Given the description of an element on the screen output the (x, y) to click on. 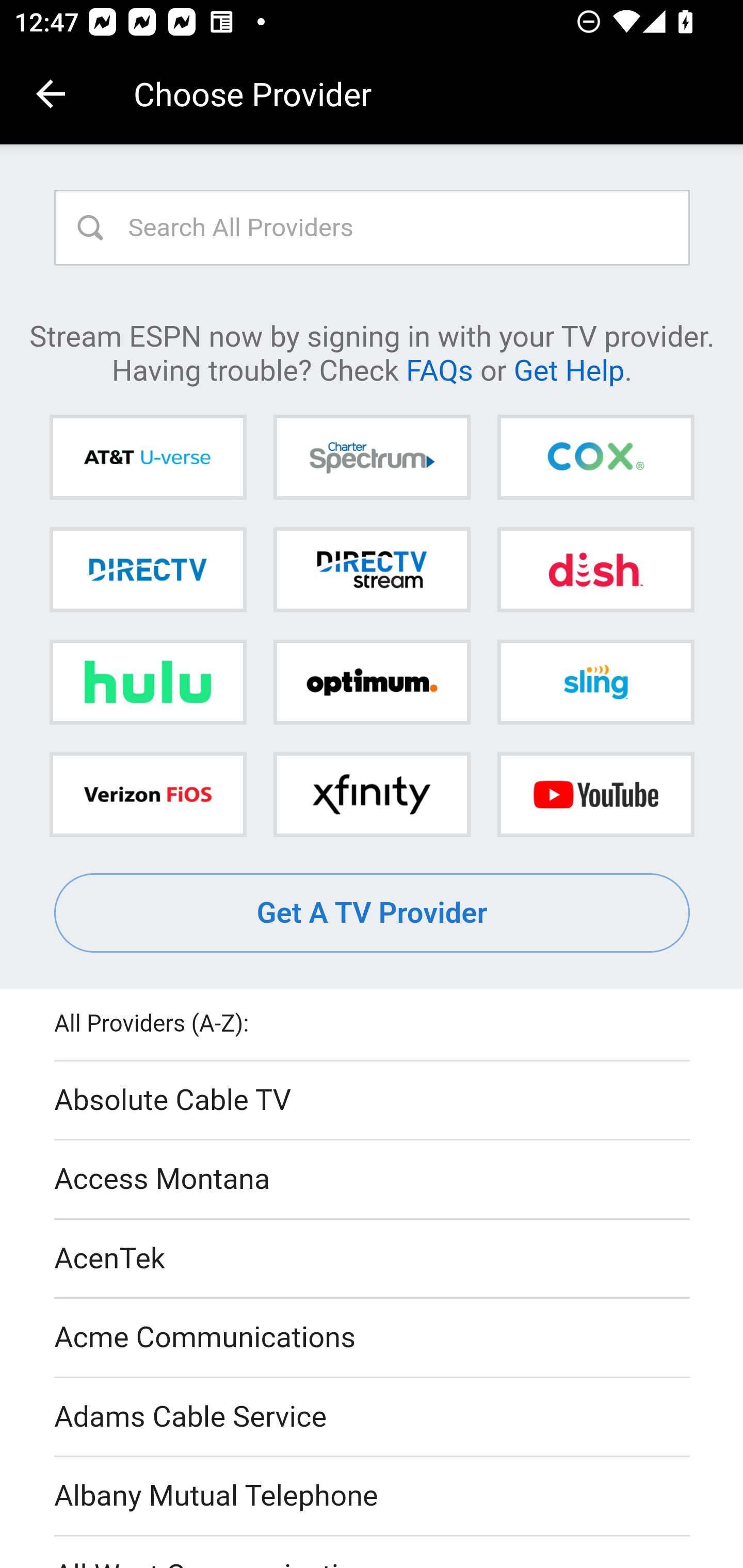
Navigate up (50, 93)
FAQs (438, 369)
Get Help (569, 369)
AT&T U-verse (147, 457)
Charter Spectrum (371, 457)
Cox (595, 457)
DIRECTV (147, 568)
DIRECTV STREAM (371, 568)
DISH (595, 568)
Hulu (147, 681)
Optimum (371, 681)
Sling TV (595, 681)
Verizon FiOS (147, 793)
Xfinity (371, 793)
YouTube TV (595, 793)
Get A TV Provider (372, 912)
Absolute Cable TV (372, 1100)
Access Montana (372, 1178)
AcenTek (372, 1258)
Acme Communications (372, 1338)
Adams Cable Service (372, 1417)
Albany Mutual Telephone (372, 1497)
